Given the description of an element on the screen output the (x, y) to click on. 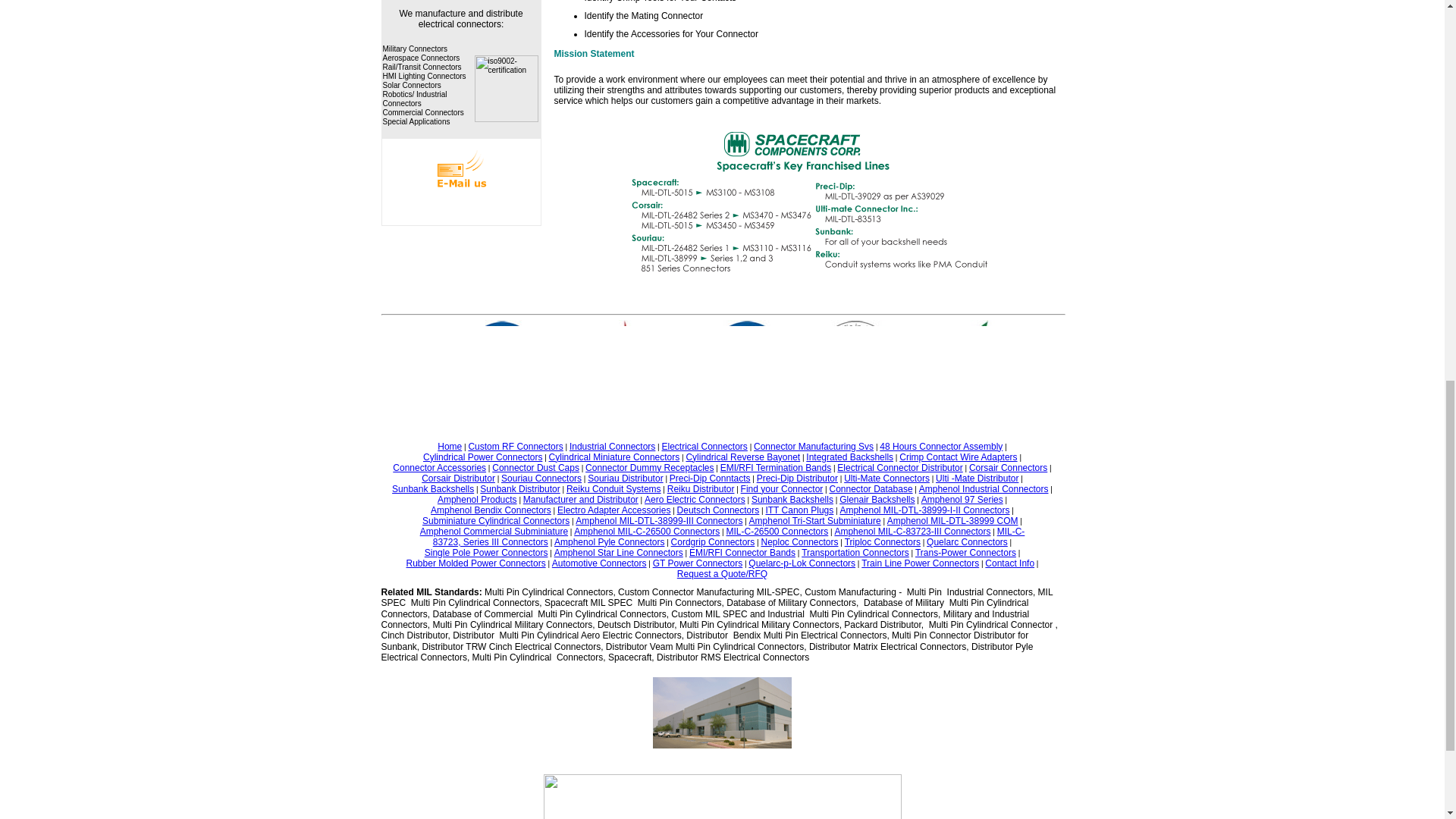
Connector Manufacturing Svs (813, 446)
Electrical Connectors (703, 446)
Integrated Backshells (849, 457)
Cylindrical Miniature Connectors (613, 457)
48 Hours Connector Assembly (941, 446)
Custom RF Connectors (514, 446)
Cylindrical Power Connectors (482, 457)
Cylindrical Reverse Bayonet (742, 457)
Home (449, 446)
Crimp Contact Wire Adapters (957, 457)
